Given the description of an element on the screen output the (x, y) to click on. 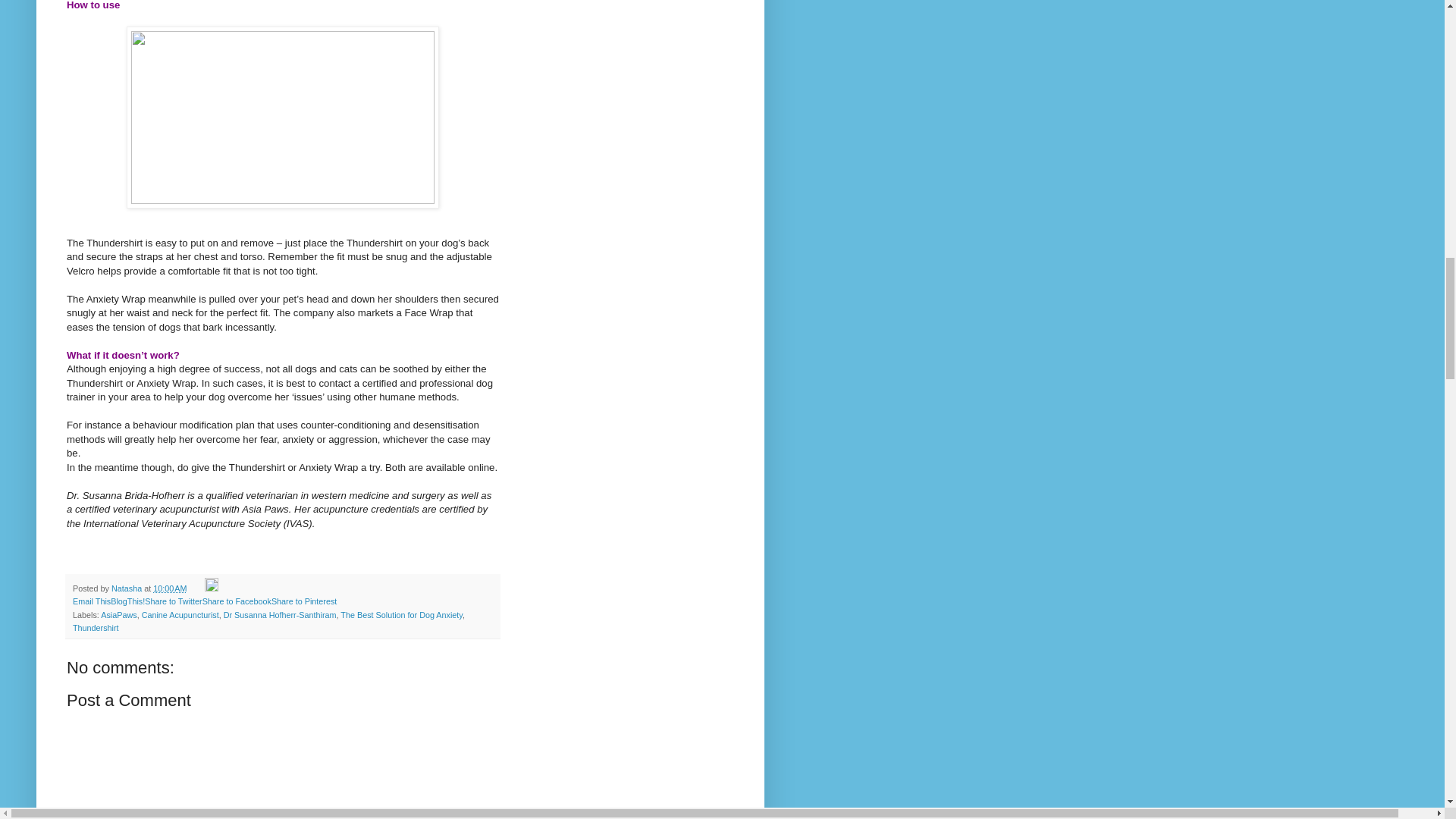
Share to Twitter (173, 601)
Email This (91, 601)
permanent link (169, 587)
Email Post (197, 587)
Share to Pinterest (303, 601)
Dr Susanna Hofherr-Santhiram (280, 614)
Share to Facebook (236, 601)
Email This (91, 601)
AsiaPaws (118, 614)
Share to Pinterest (303, 601)
The Best Solution for Dog Anxiety (401, 614)
Share to Facebook (236, 601)
Edit Post (211, 587)
Natasha (128, 587)
